Given the description of an element on the screen output the (x, y) to click on. 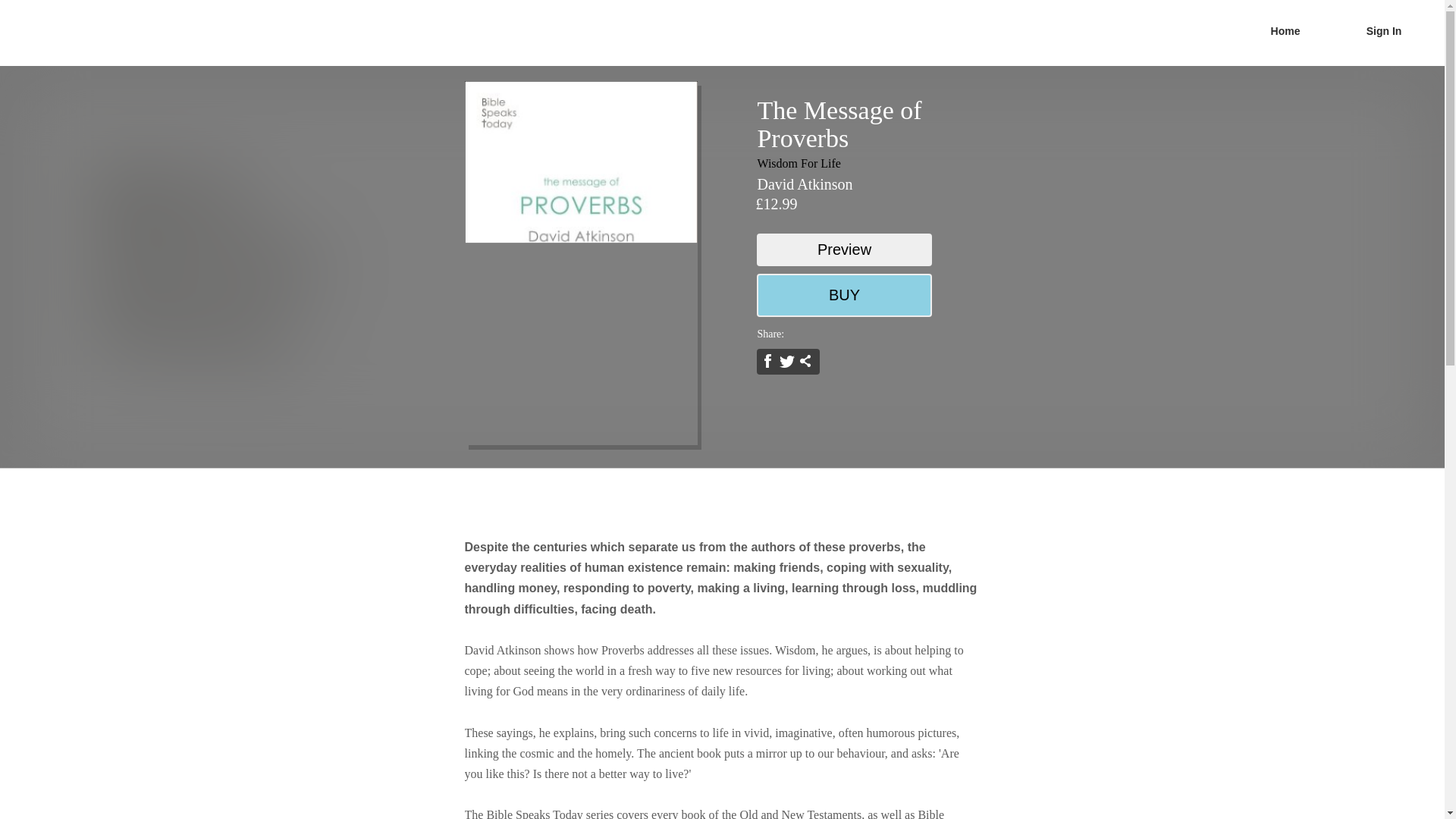
Preview (844, 249)
Sign In (1383, 31)
Buy (844, 294)
Home (1285, 31)
